Given the description of an element on the screen output the (x, y) to click on. 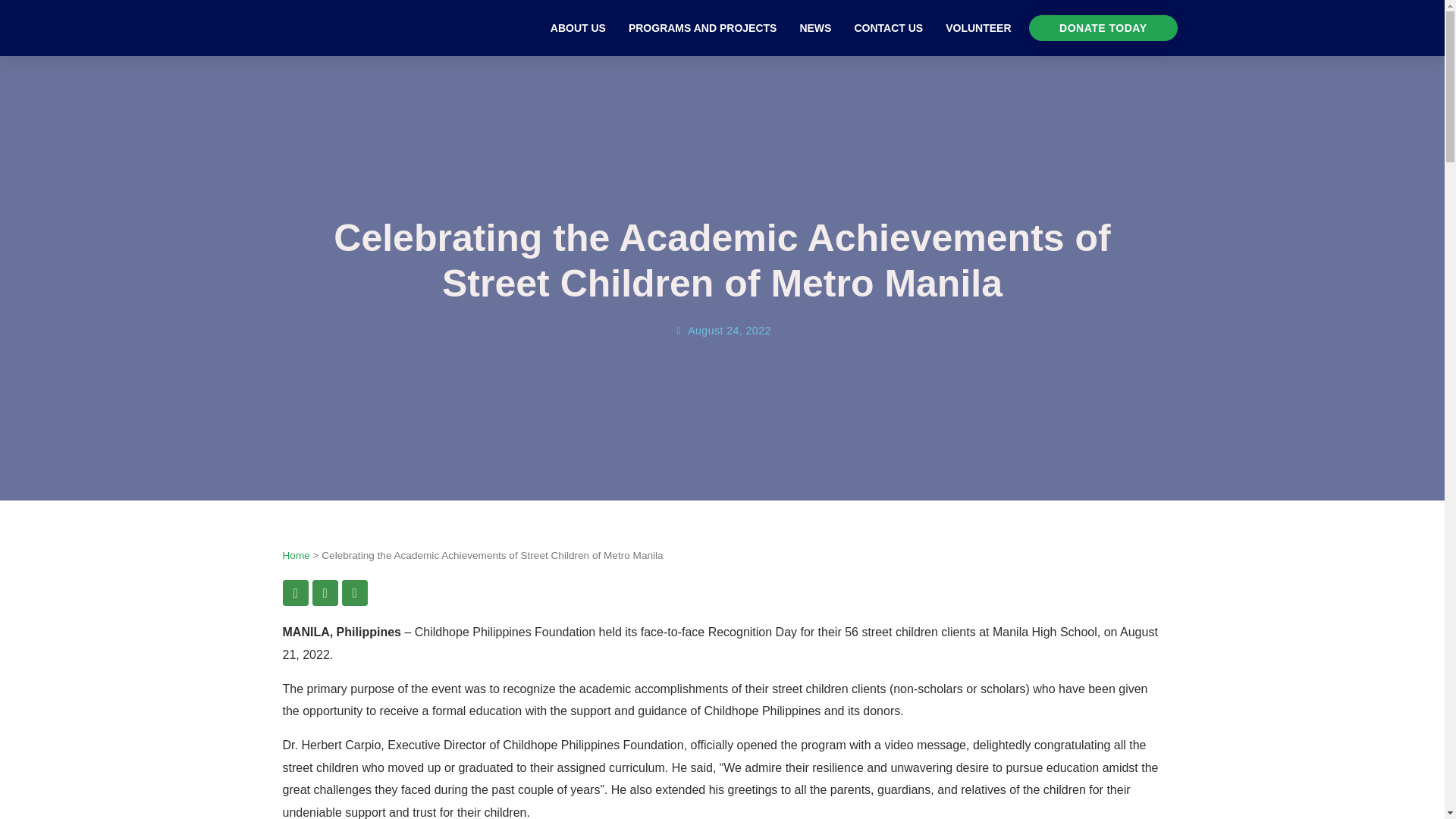
DONATE TODAY (1102, 27)
Home (295, 555)
CONTACT US (888, 27)
PROGRAMS AND PROJECTS (703, 27)
VOLUNTEER (978, 27)
ABOUT US (577, 27)
NEWS (815, 27)
